Given the description of an element on the screen output the (x, y) to click on. 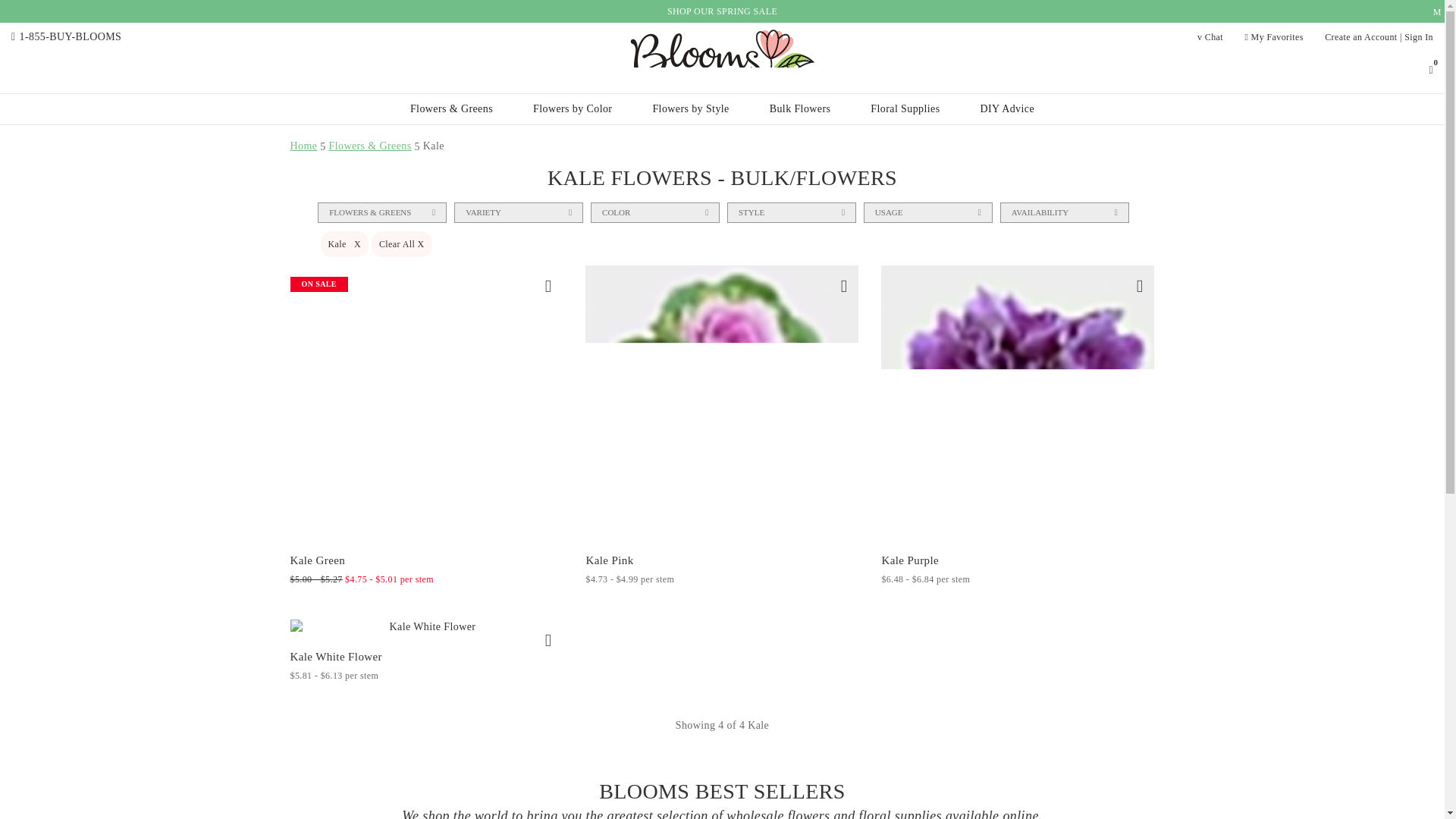
SHOP OUR SPRING SALE (721, 10)
Sign In (1418, 36)
1-855-BUY-BLOOMS (71, 36)
My Favorites (1273, 36)
Create an Account (1360, 36)
BloomsByTheBox.com (721, 54)
Chat (1209, 36)
